Given the description of an element on the screen output the (x, y) to click on. 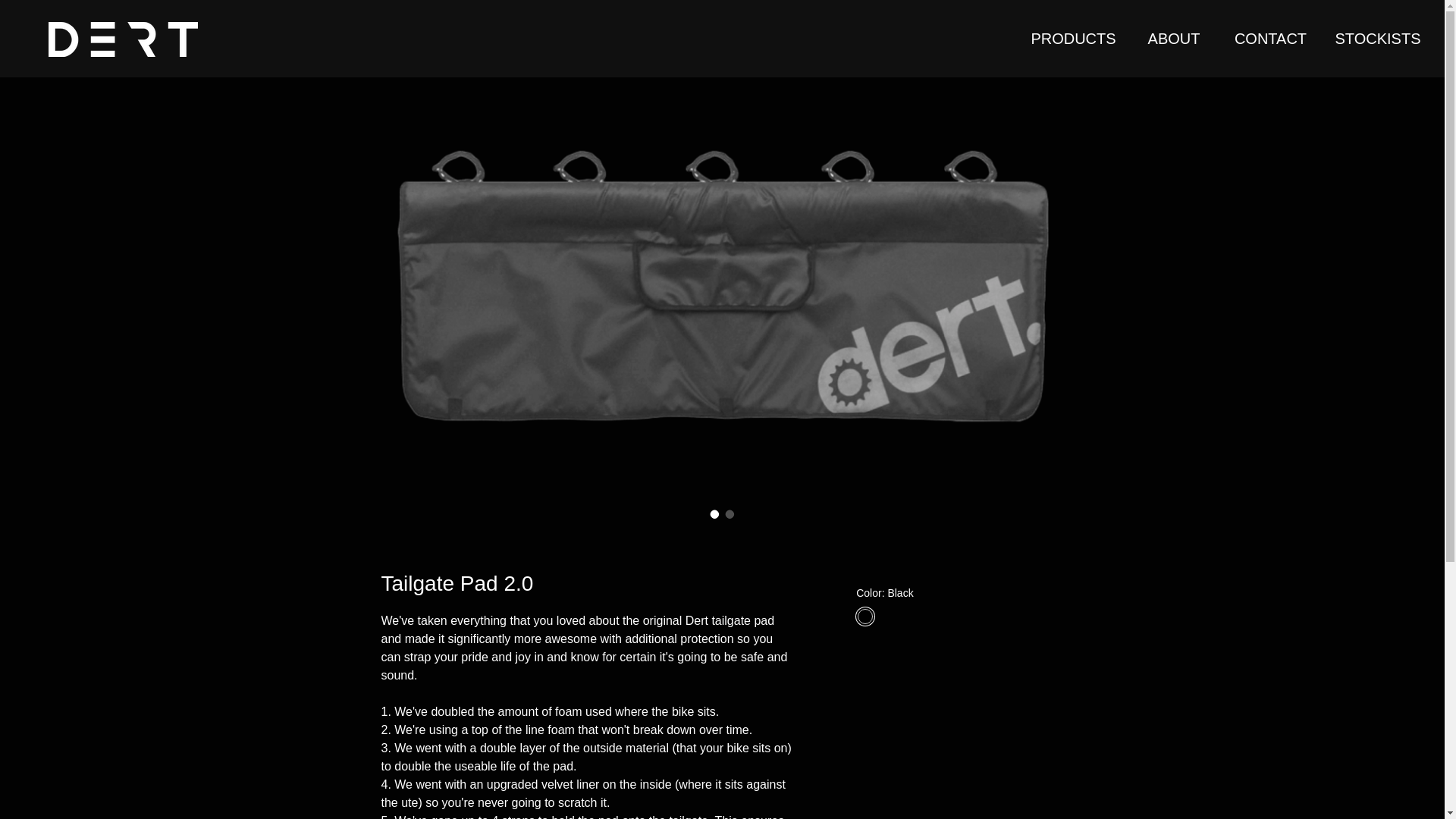
ABOUT (1174, 38)
CONTACT (1271, 38)
PRODUCTS (1072, 38)
STOCKISTS (1378, 38)
